Given the description of an element on the screen output the (x, y) to click on. 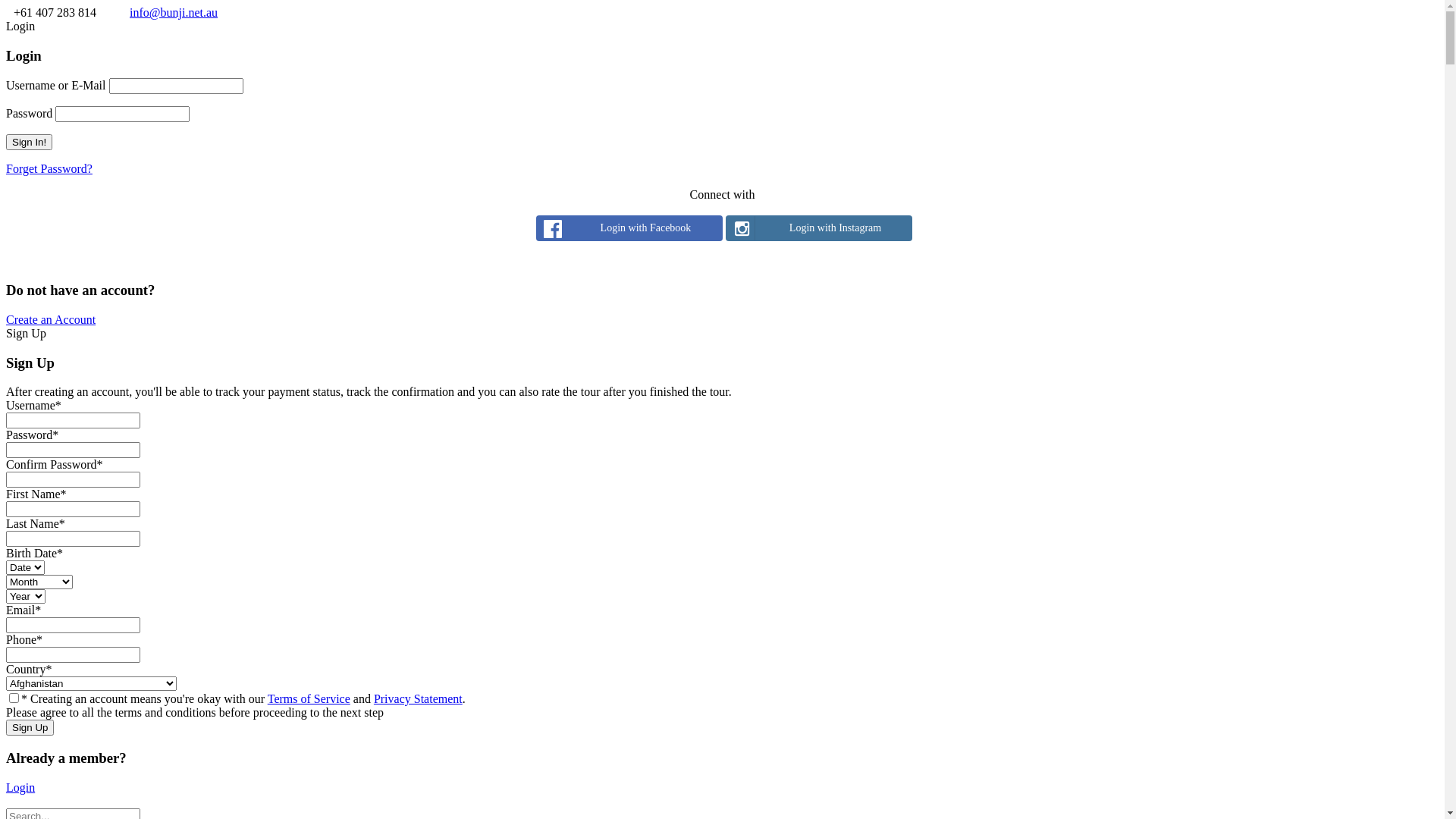
Login Element type: text (20, 787)
Sign Up Element type: text (29, 727)
Privacy Statement Element type: text (417, 698)
Forget Password? Element type: text (49, 168)
info@bunji.net.au Element type: text (173, 12)
Login with Instagram Element type: text (817, 228)
Login with Facebook Element type: text (628, 228)
Terms of Service Element type: text (308, 698)
Sign In! Element type: text (29, 142)
Create an Account Element type: text (50, 319)
